Given the description of an element on the screen output the (x, y) to click on. 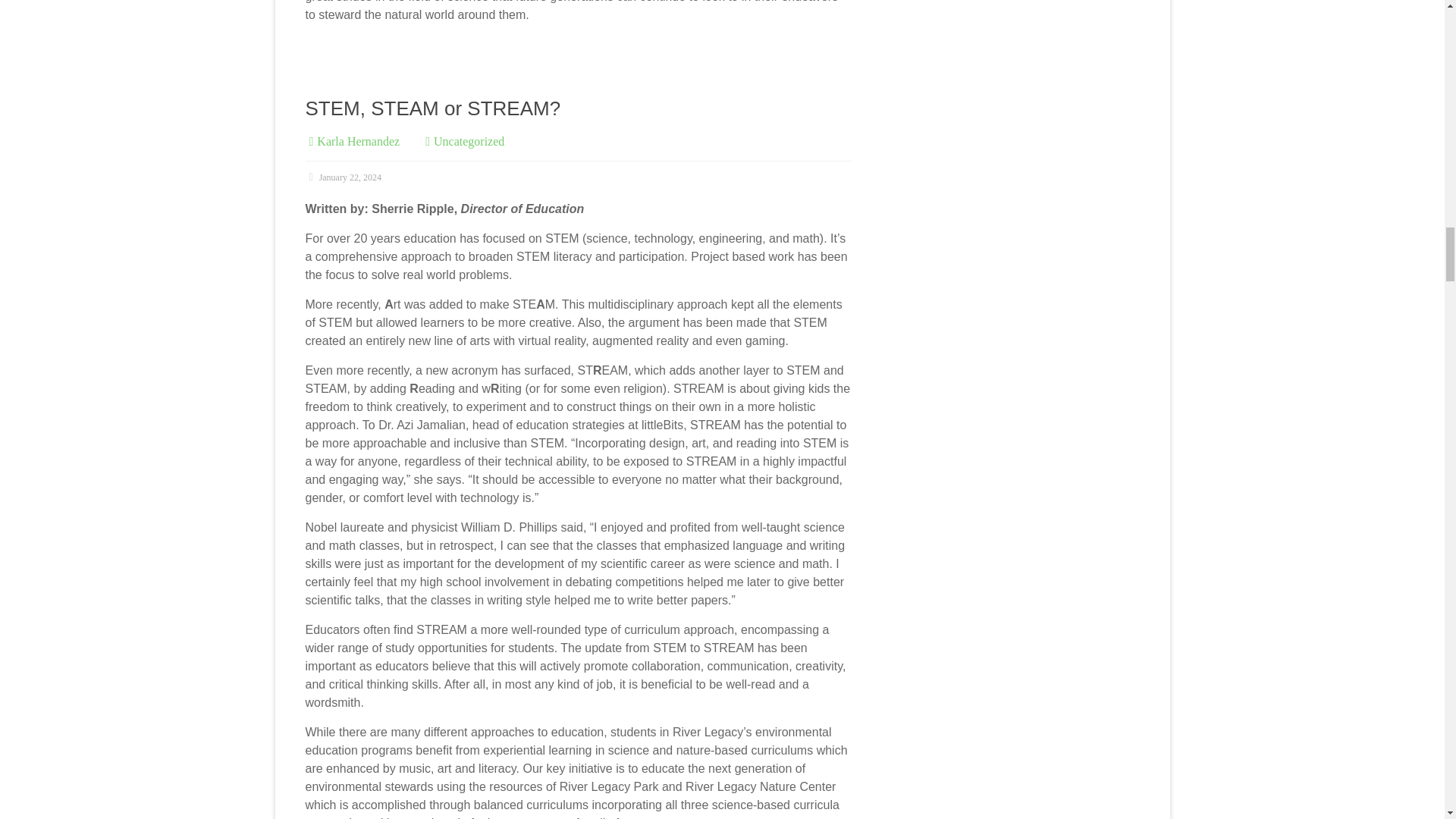
Karla Hernandez (357, 141)
STEM, STEAM or STREAM? (432, 108)
January 22, 2024 (342, 176)
Karla Hernandez (357, 141)
STEM, STEAM or STREAM? (432, 108)
Uncategorized (468, 141)
8:40 pm (342, 176)
